Given the description of an element on the screen output the (x, y) to click on. 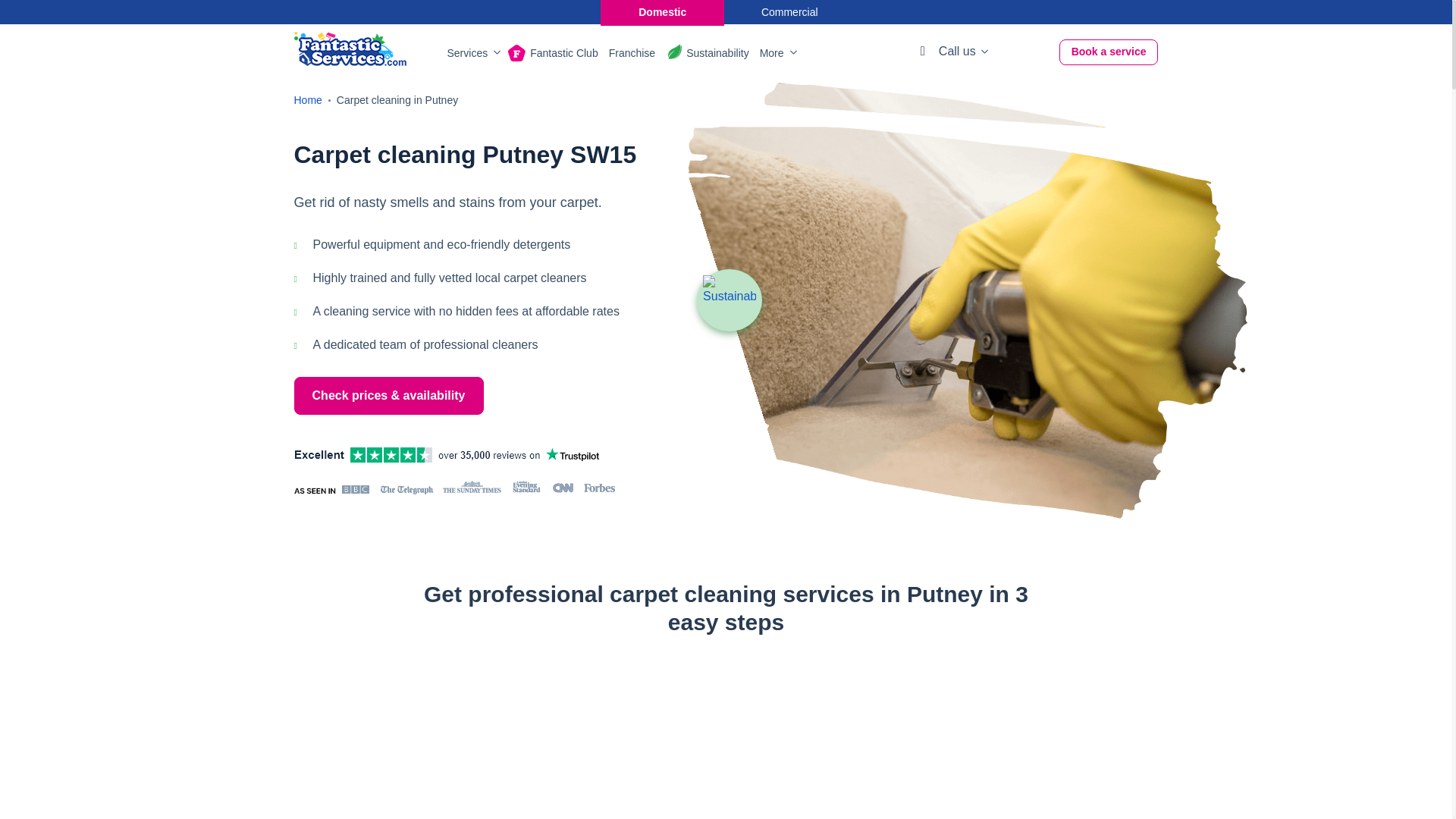
Fantastic Club (563, 52)
Book online (1108, 52)
Fantastic Services (350, 47)
For domestic clients (661, 12)
Sustainability (729, 300)
Domestic (661, 12)
Franchise (632, 52)
More (777, 52)
Book a service (1108, 52)
Commercial (789, 12)
Fantastic Services Logo (350, 48)
Services (472, 52)
For business clients (789, 12)
Sustainability (717, 52)
